Given the description of an element on the screen output the (x, y) to click on. 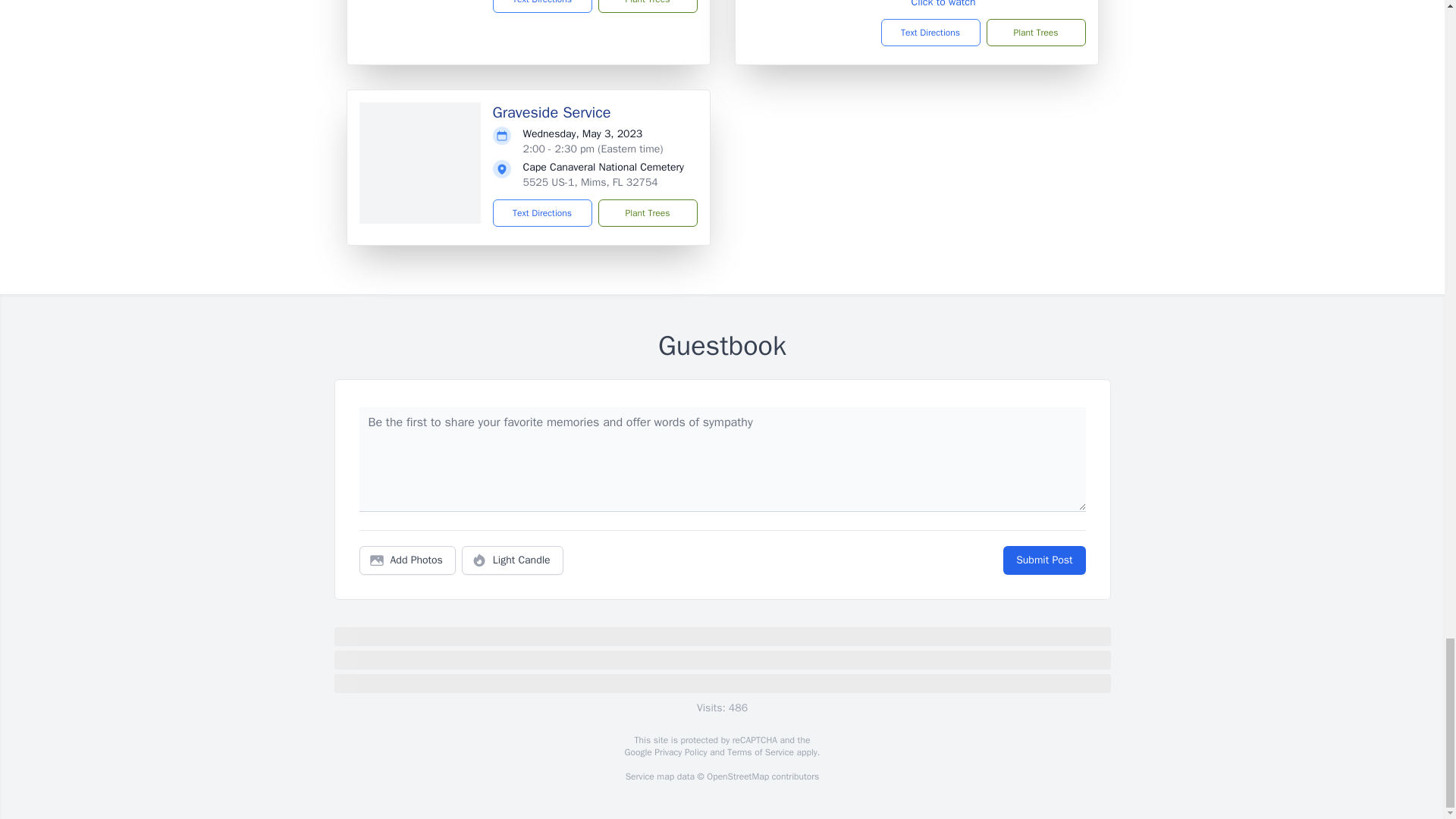
Add Photos (407, 560)
Submit Post (1043, 560)
Plant Trees (646, 6)
Plant Trees (1034, 31)
Text Directions (929, 31)
Text Directions (542, 212)
Light Candle (512, 560)
Text Directions (542, 6)
Plant Trees (646, 212)
Click to watch (943, 4)
